Given the description of an element on the screen output the (x, y) to click on. 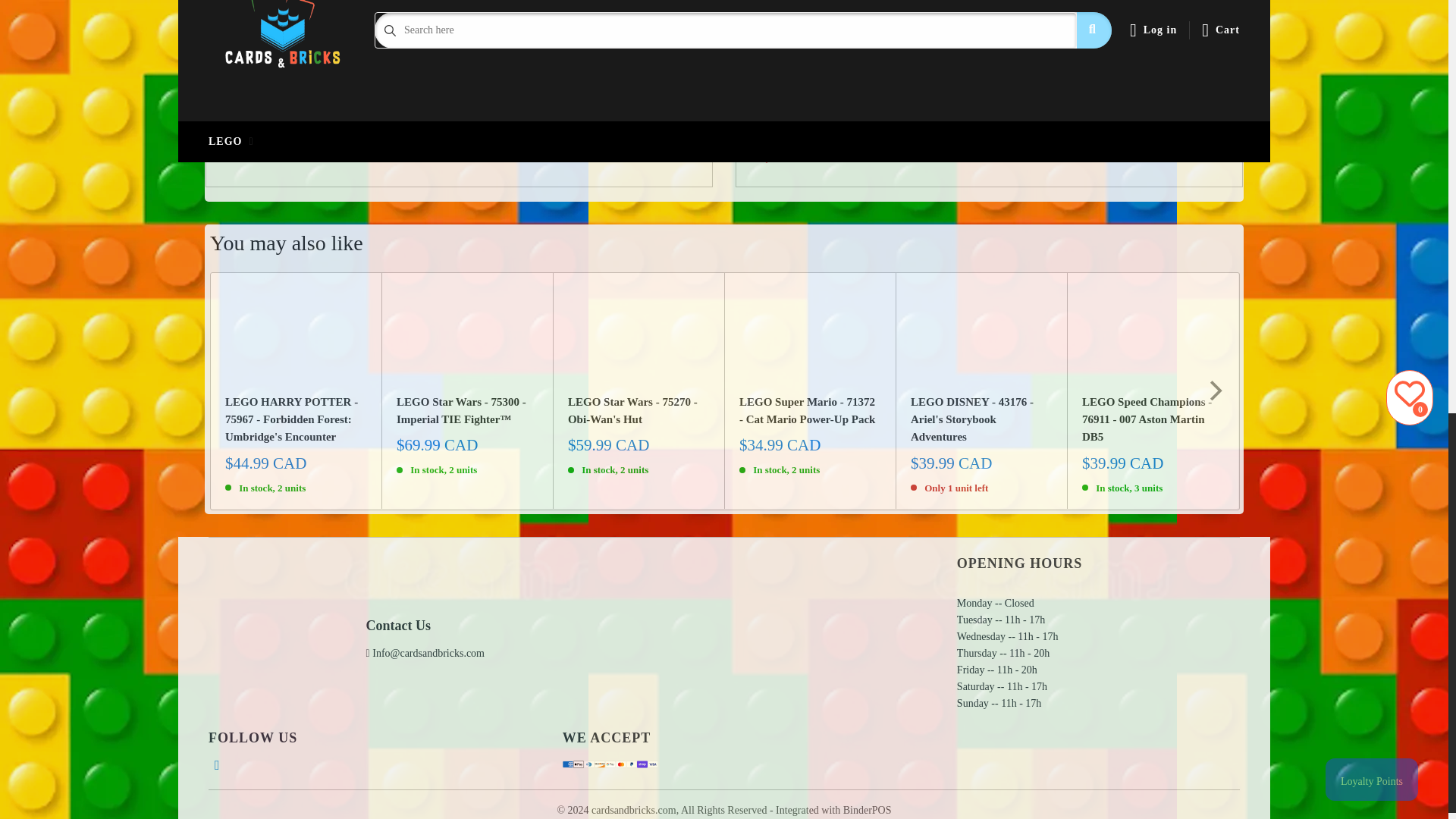
PayPal (431, 118)
Shop Pay (462, 118)
Mastercard (400, 118)
Apple Pay (578, 764)
American Express (242, 118)
Google Pay (369, 118)
American Express (567, 764)
Discover (337, 118)
Visa (494, 118)
Diners Club (306, 118)
